Given the description of an element on the screen output the (x, y) to click on. 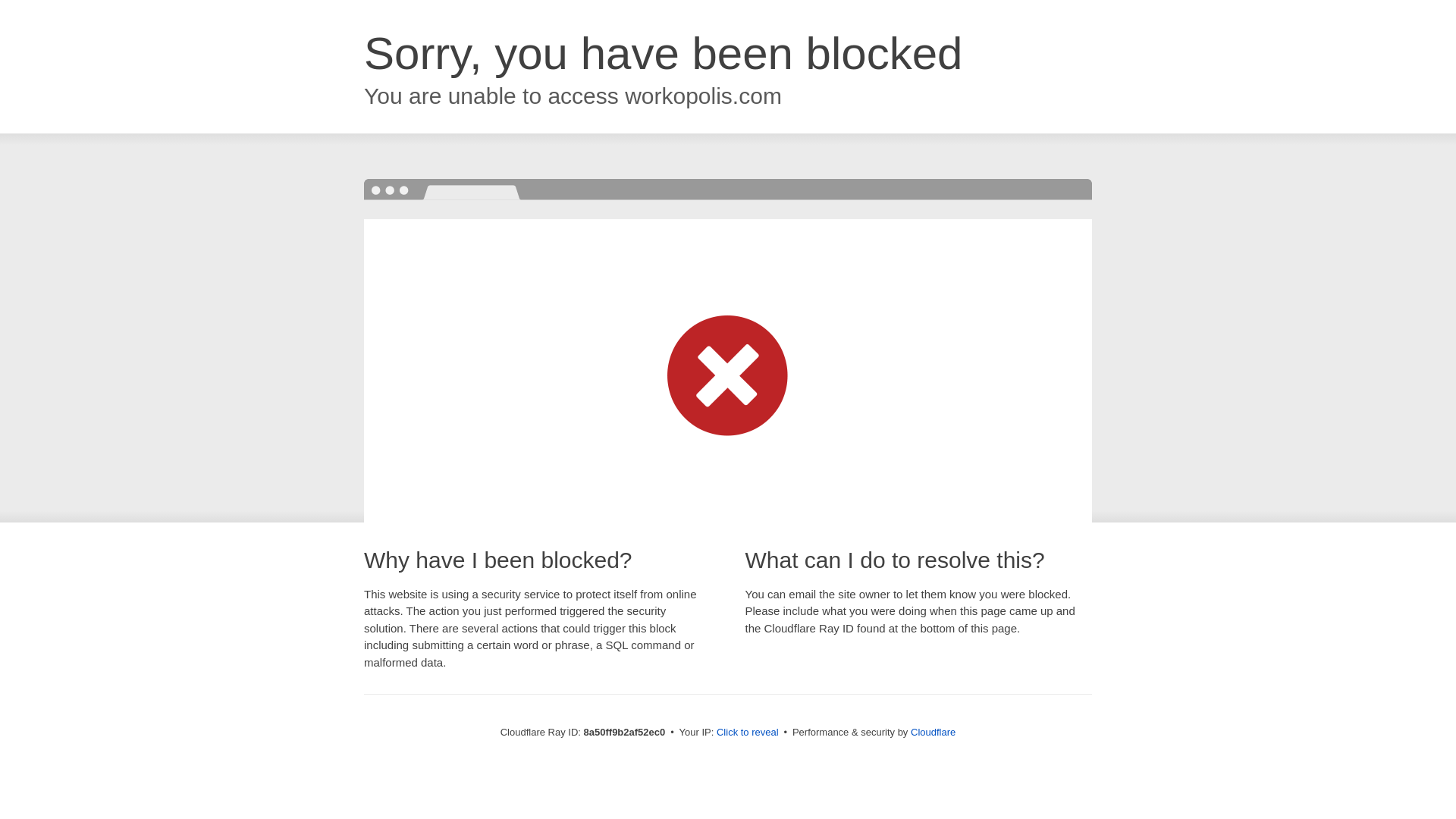
Click to reveal (747, 732)
Cloudflare (933, 731)
